Given the description of an element on the screen output the (x, y) to click on. 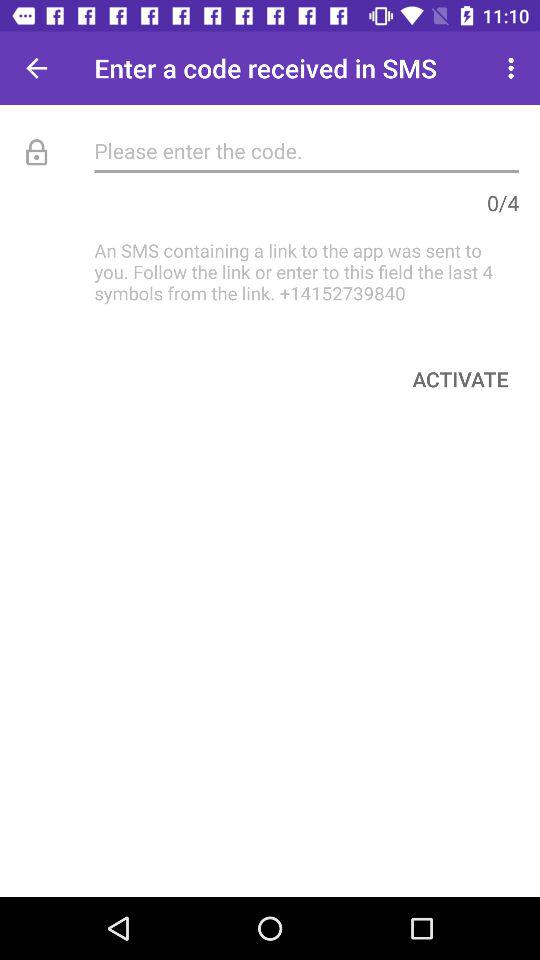
prewies (36, 68)
